Given the description of an element on the screen output the (x, y) to click on. 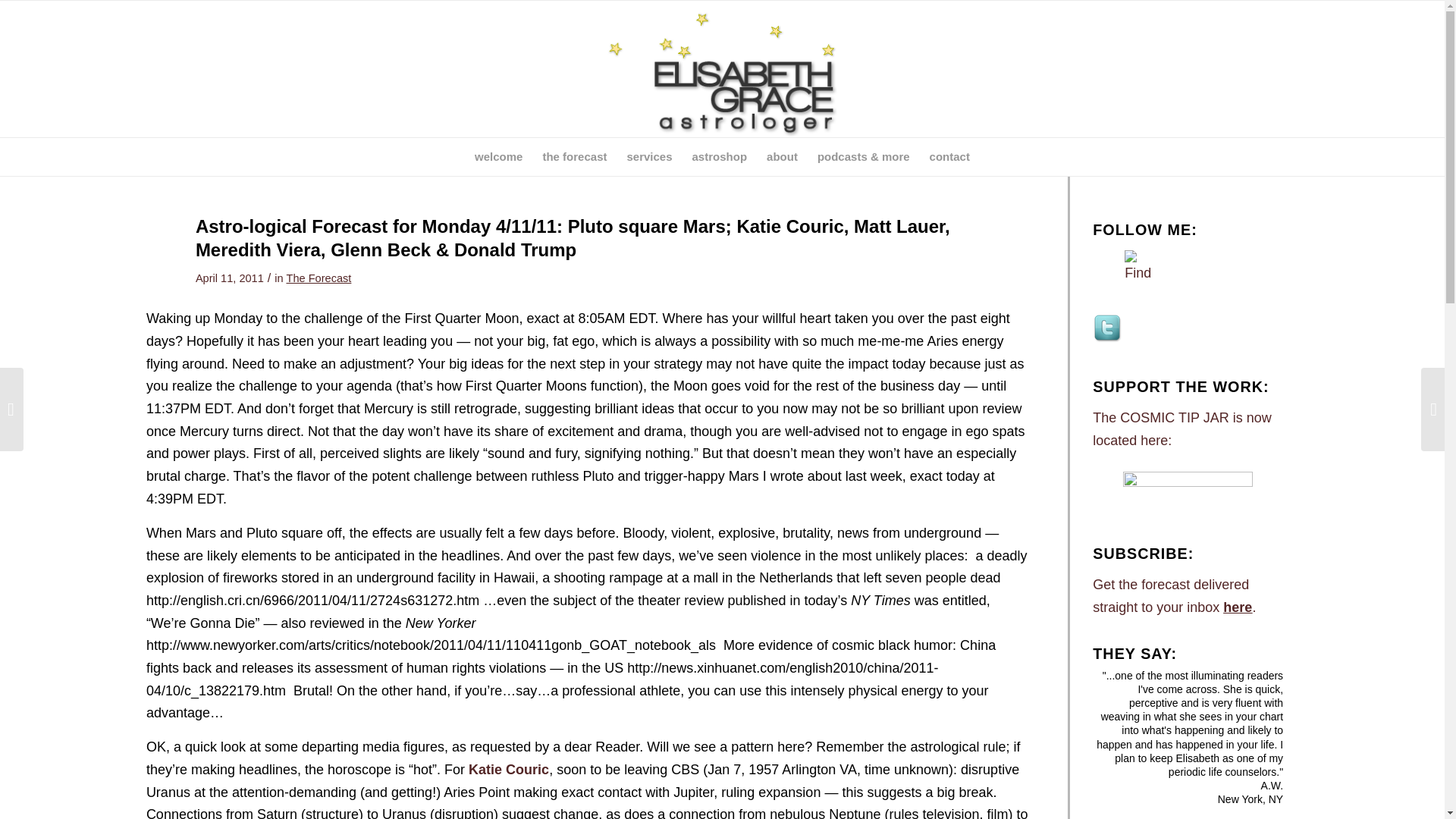
services (648, 157)
astroshop (719, 157)
contact (949, 157)
logogold (721, 68)
the forecast (573, 157)
The Forecast (317, 277)
about (782, 157)
welcome (498, 157)
